Given the description of an element on the screen output the (x, y) to click on. 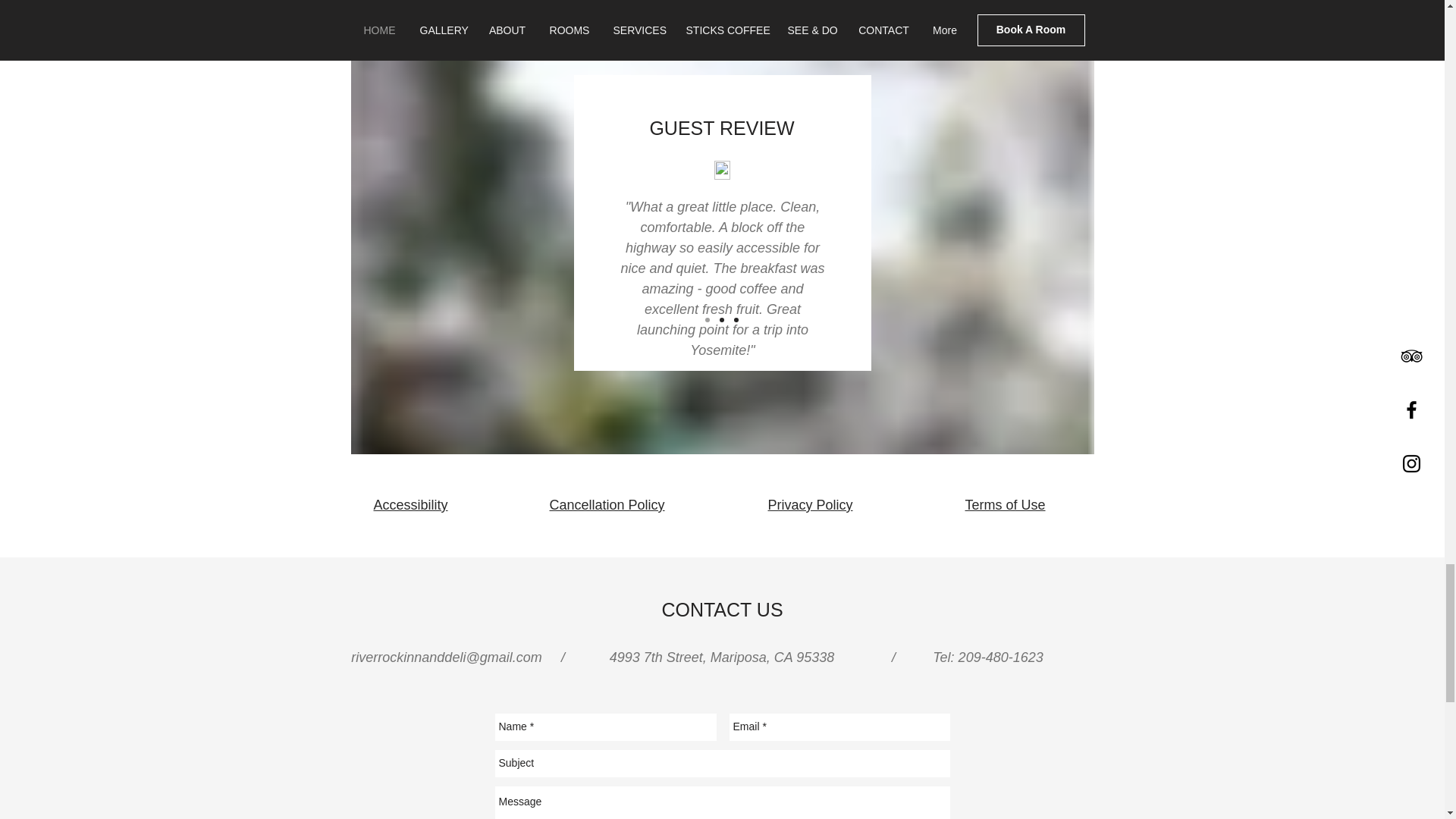
Cancellation Policy (605, 504)
Accessibility (409, 504)
